Given the description of an element on the screen output the (x, y) to click on. 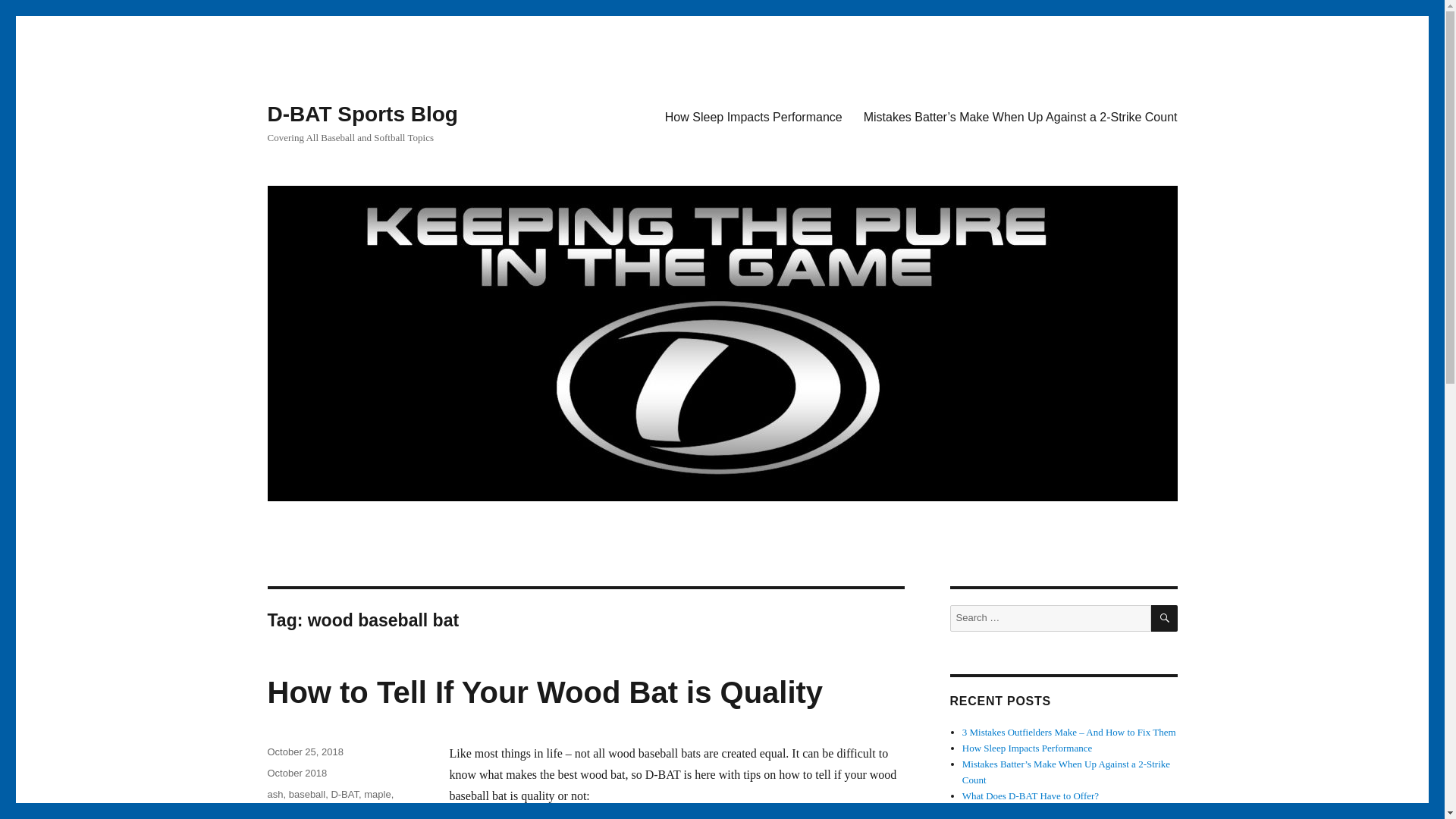
ash (274, 794)
baseball (306, 794)
October 2018 (296, 772)
How Sleep Impacts Performance (753, 116)
5 Ways to Earn More Playing Time (1032, 811)
How to Tell If Your Wood Bat is Quality (544, 692)
maple (377, 794)
wood bats (374, 809)
October 25, 2018 (304, 751)
D-BAT (344, 794)
wood baseball bat (306, 809)
What Does D-BAT Have to Offer? (1030, 795)
D-BAT Sports Blog (361, 114)
How Sleep Impacts Performance (1027, 747)
SEARCH (1164, 618)
